Given the description of an element on the screen output the (x, y) to click on. 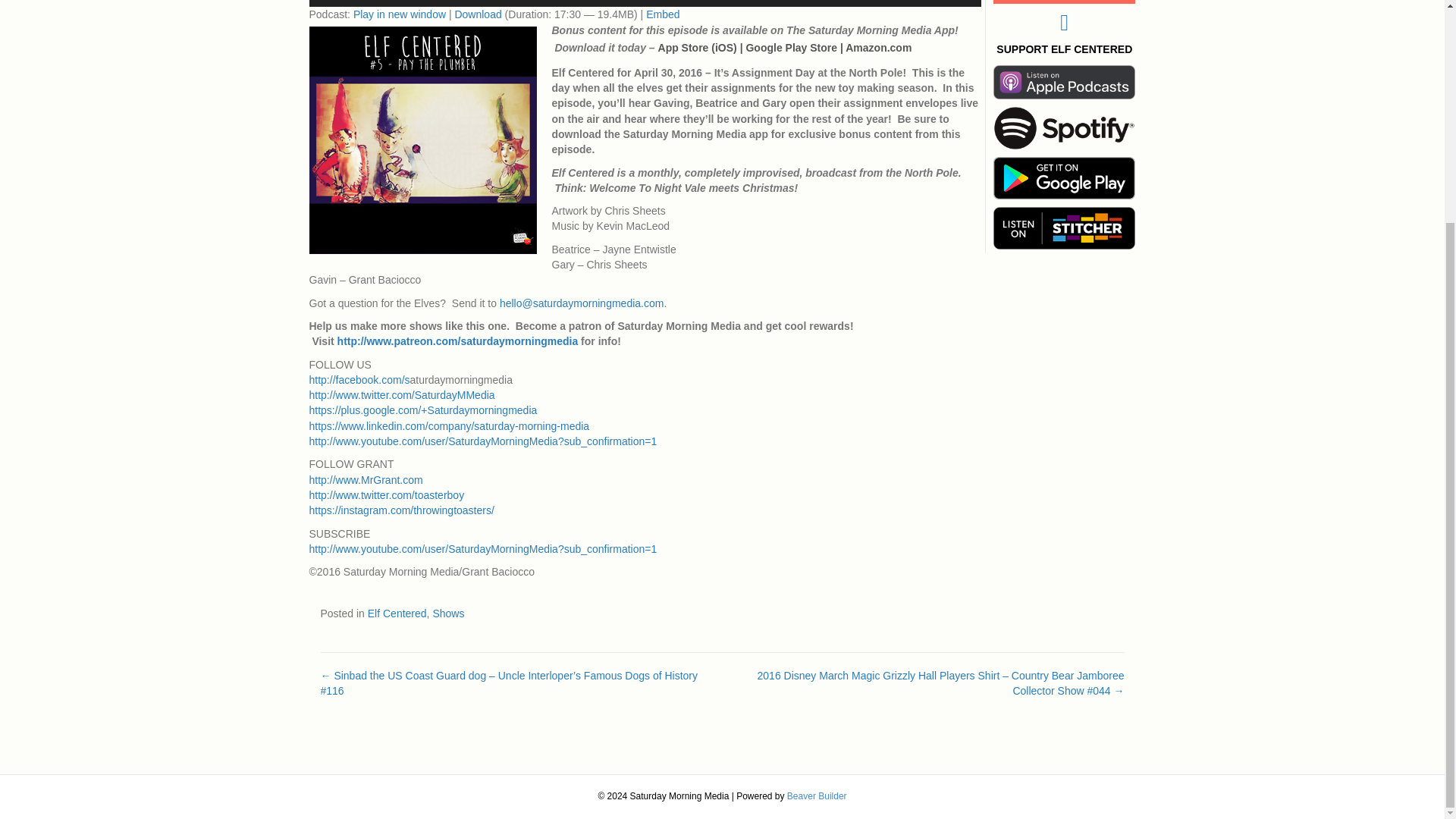
Play in new window (399, 14)
Shows (448, 613)
Amazon.com (878, 47)
Google Play Store (791, 47)
googleplaybadge300 (1063, 178)
Download (477, 14)
Elf Centered (397, 613)
Embed (662, 14)
Beaver Builder (817, 796)
Download (477, 14)
Print (1063, 82)
Play in new window (399, 14)
Embed (662, 14)
WordPress Page Builder Plugin (817, 796)
